Given the description of an element on the screen output the (x, y) to click on. 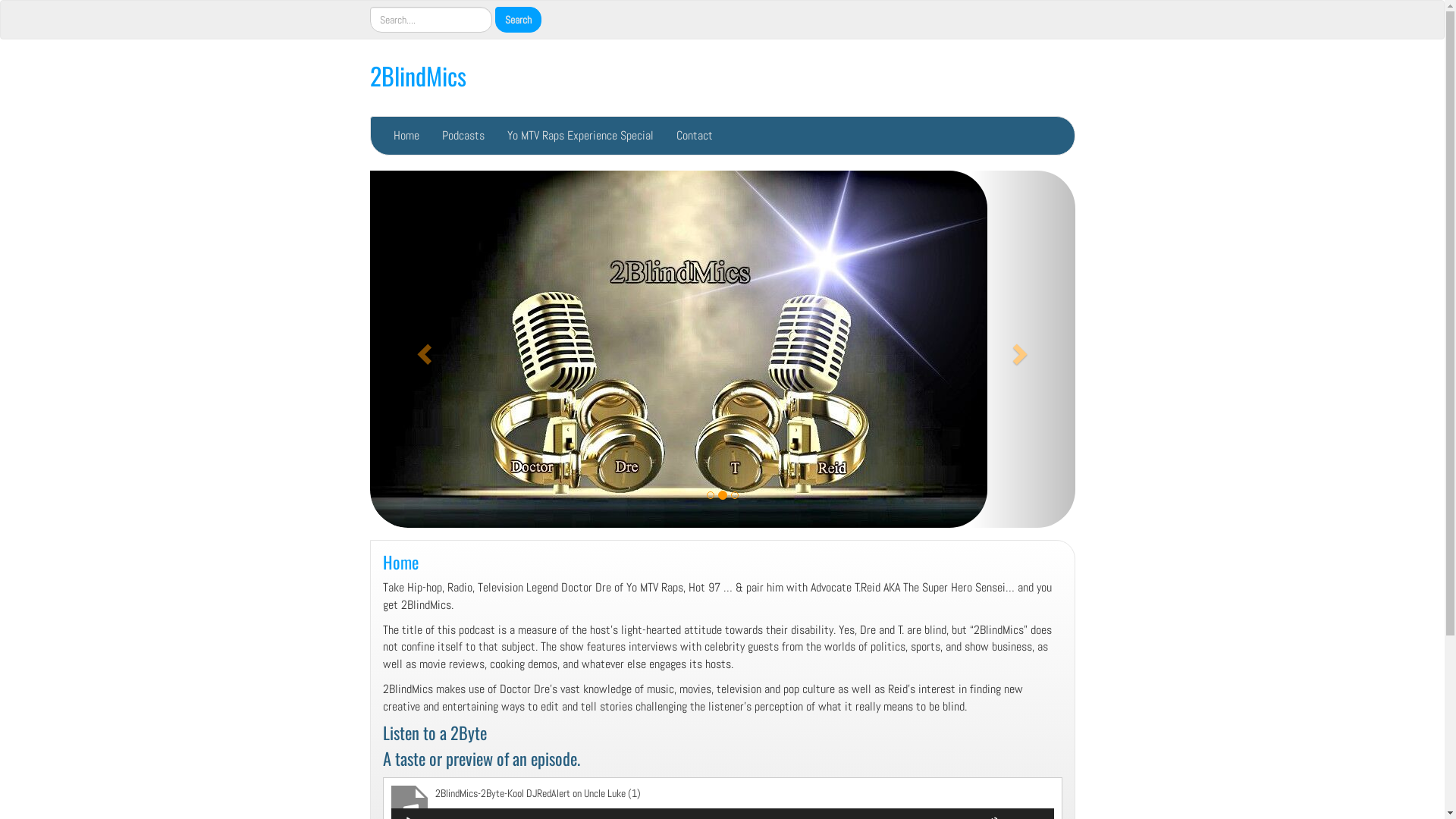
Next Element type: text (1022, 348)
2BlindMics Element type: text (418, 75)
Podcasts Element type: text (462, 135)
Home Element type: text (406, 135)
Home Element type: text (399, 561)
Contact Element type: text (693, 135)
Previous Element type: text (423, 348)
Search Element type: text (517, 19)
Yo MTV Raps Experience Special Element type: text (580, 135)
